Given the description of an element on the screen output the (x, y) to click on. 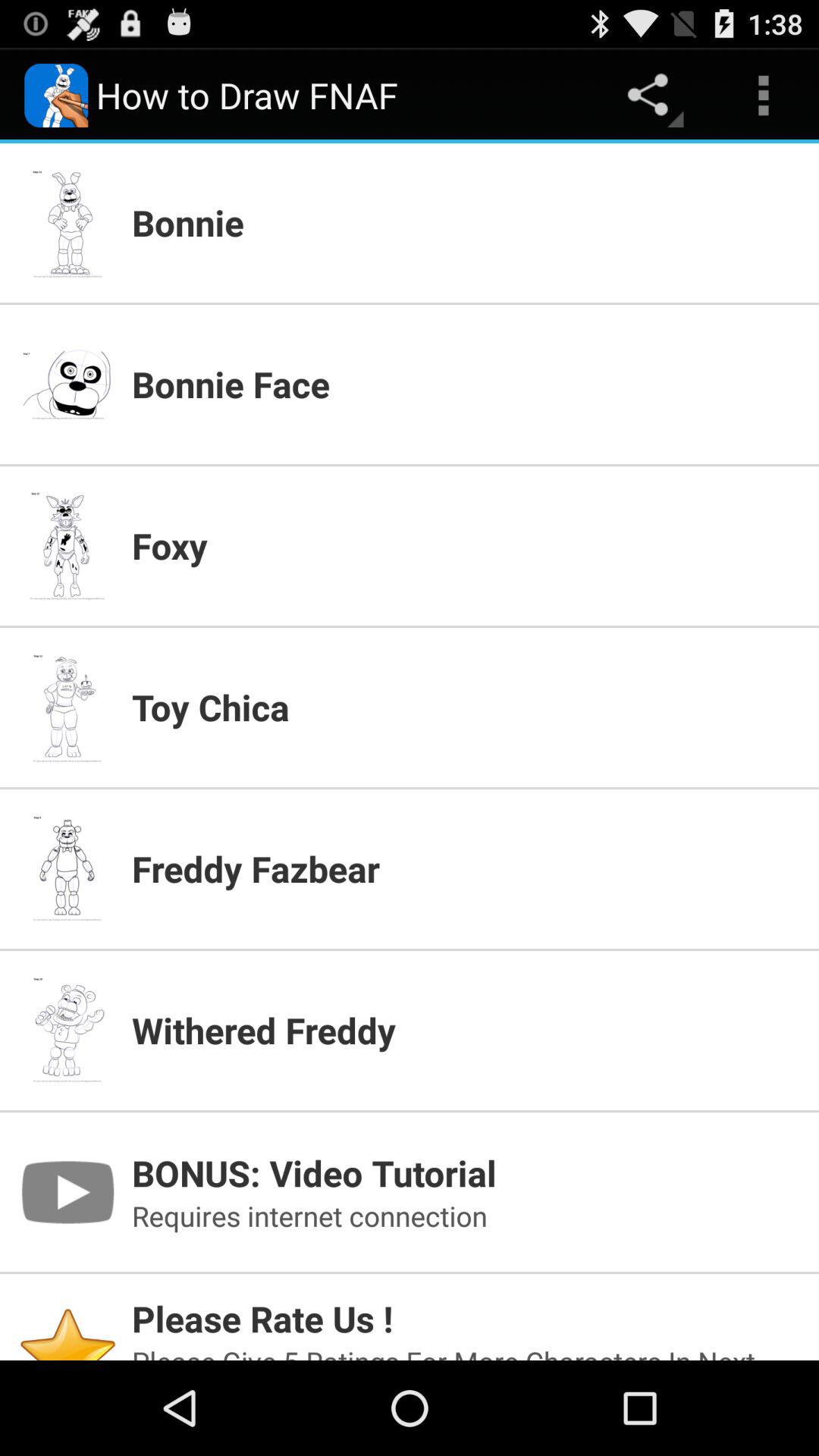
scroll to withered freddy app (465, 1030)
